Given the description of an element on the screen output the (x, y) to click on. 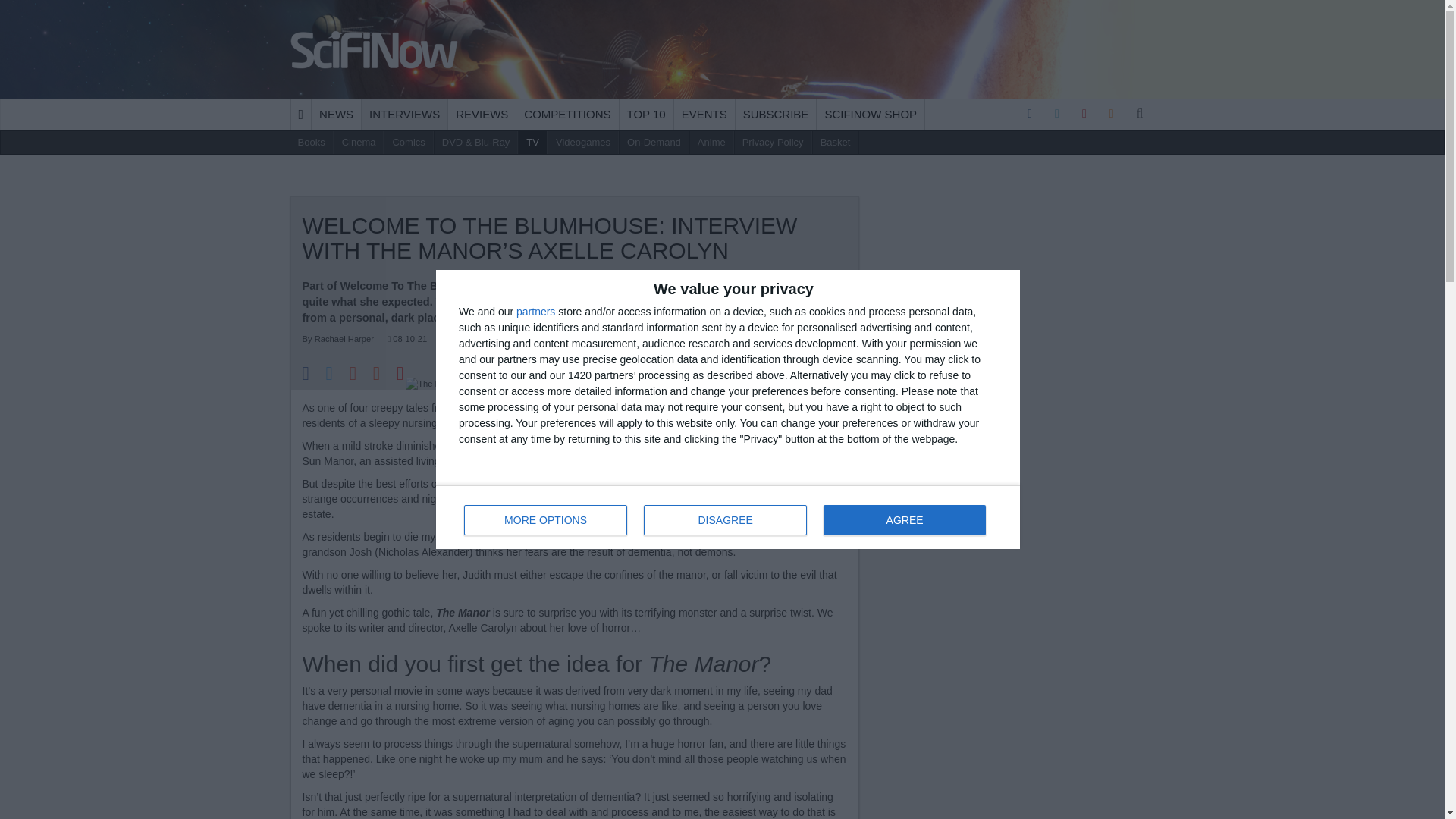
SciFiNow Home (374, 49)
Basket (835, 142)
REVIEWS (481, 114)
Books (311, 142)
TV (532, 142)
Twitter Page (1056, 113)
AGREE (904, 520)
NEWS (336, 114)
Comics (408, 142)
Anime (711, 142)
SUBSCRIBE (775, 114)
partners (535, 311)
COMPETITIONS (566, 114)
Videogames (583, 142)
Cinema (359, 142)
